Given the description of an element on the screen output the (x, y) to click on. 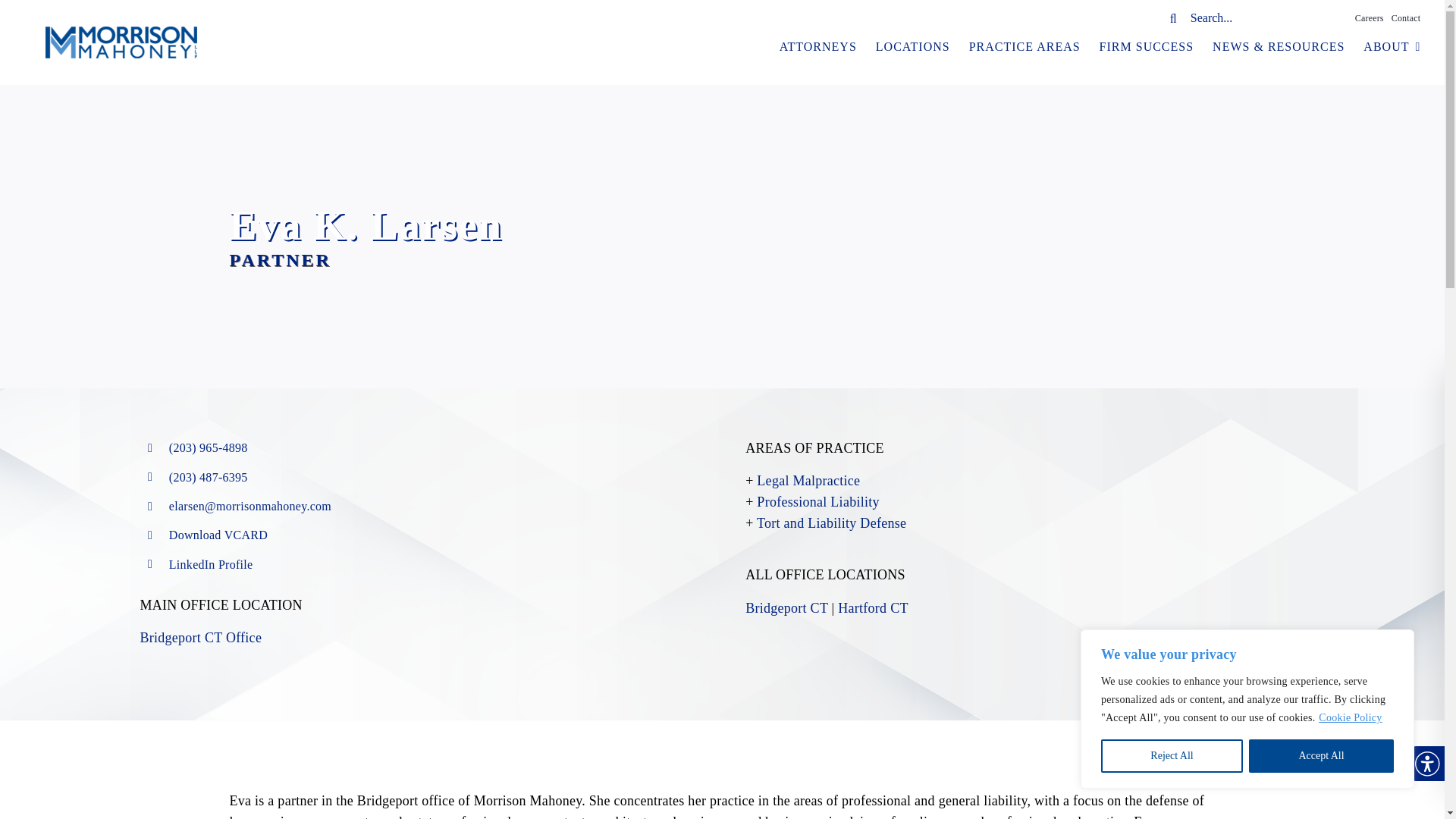
Tort and Liability Defense (831, 522)
Contact (1406, 17)
Legal Malpractice (808, 480)
ATTORNEYS (817, 46)
FIRM SUCCESS (1146, 46)
PRACTICE AREAS (1024, 46)
Hartford CT (872, 607)
Bridgeport CT (786, 607)
Reject All (1171, 756)
Cookie Policy (1349, 717)
Careers (1369, 17)
Bridgeport CT Office (200, 637)
Accept All (1321, 756)
Professional Liability (818, 501)
LOCATIONS (913, 46)
